Given the description of an element on the screen output the (x, y) to click on. 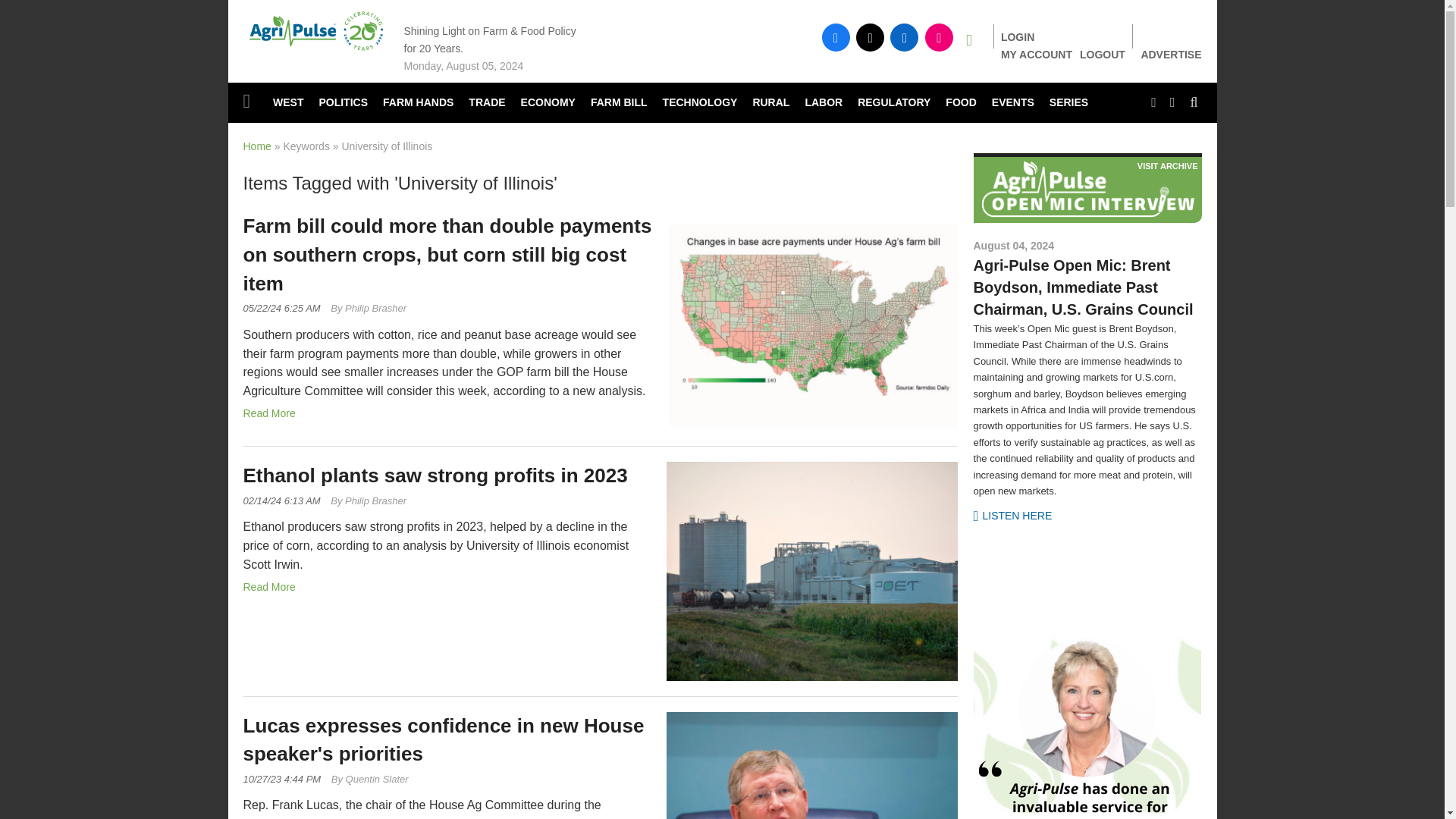
POLITICS (343, 102)
TRADE (486, 102)
RURAL (770, 102)
Lucas expresses confidence in new House speaker's priorities (812, 765)
FARM HANDS (418, 102)
Ethanol plants saw strong profits in 2023 (812, 570)
TECHNOLOGY (700, 102)
FARM BILL (619, 102)
Ethanol plants saw strong profits in 2023 (269, 587)
FOOD (960, 102)
MY ACCOUNT (1036, 54)
LOGOUT (1102, 54)
ECONOMY (548, 102)
REGULATORY (893, 102)
